Given the description of an element on the screen output the (x, y) to click on. 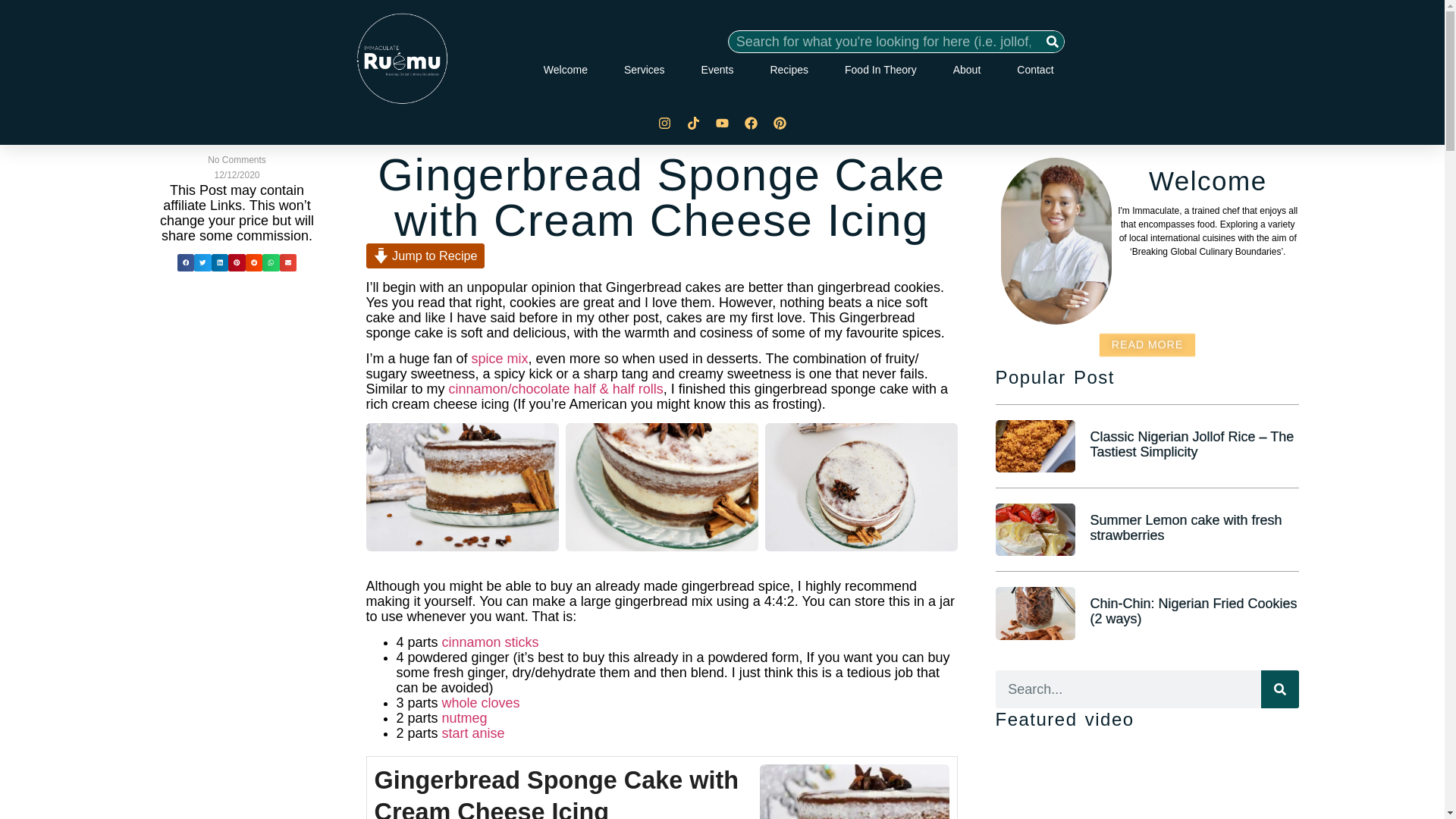
Welcome (565, 69)
Jump to Recipe (424, 255)
Contact (1034, 69)
Food In Theory (880, 69)
Events (717, 69)
Services (644, 69)
Recipes (789, 69)
About (967, 69)
